Given the description of an element on the screen output the (x, y) to click on. 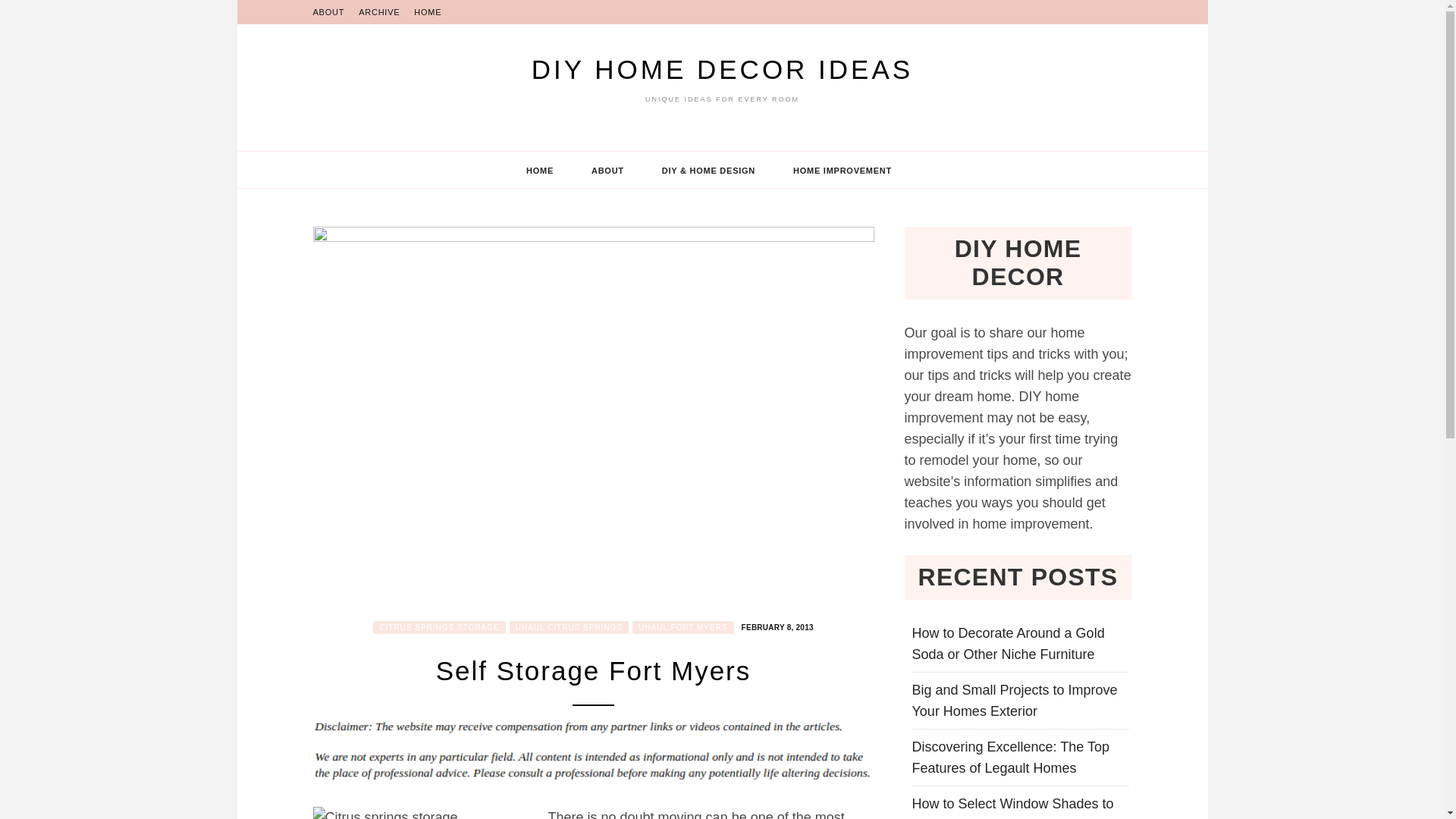
ABOUT (328, 12)
CITRUS SPRINGS STORAGE (438, 626)
UHAUL FORT MYERS (682, 626)
UHAUL CITRUS SPRINGS (568, 626)
How to Decorate Around a Gold Soda or Other Niche Furniture (1007, 642)
How to Select Window Shades to Beautify and Shade Your Home (1012, 807)
DIY HOME DECOR IDEAS (721, 69)
HOME (539, 170)
HOME IMPROVEMENT (842, 170)
HOME (427, 12)
ABOUT (607, 170)
Big and Small Projects to Improve Your Homes Exterior (1013, 700)
FEBRUARY 8, 2013 (775, 625)
ARCHIVE (378, 12)
Discovering Excellence: The Top Features of Legault Homes (1009, 756)
